Given the description of an element on the screen output the (x, y) to click on. 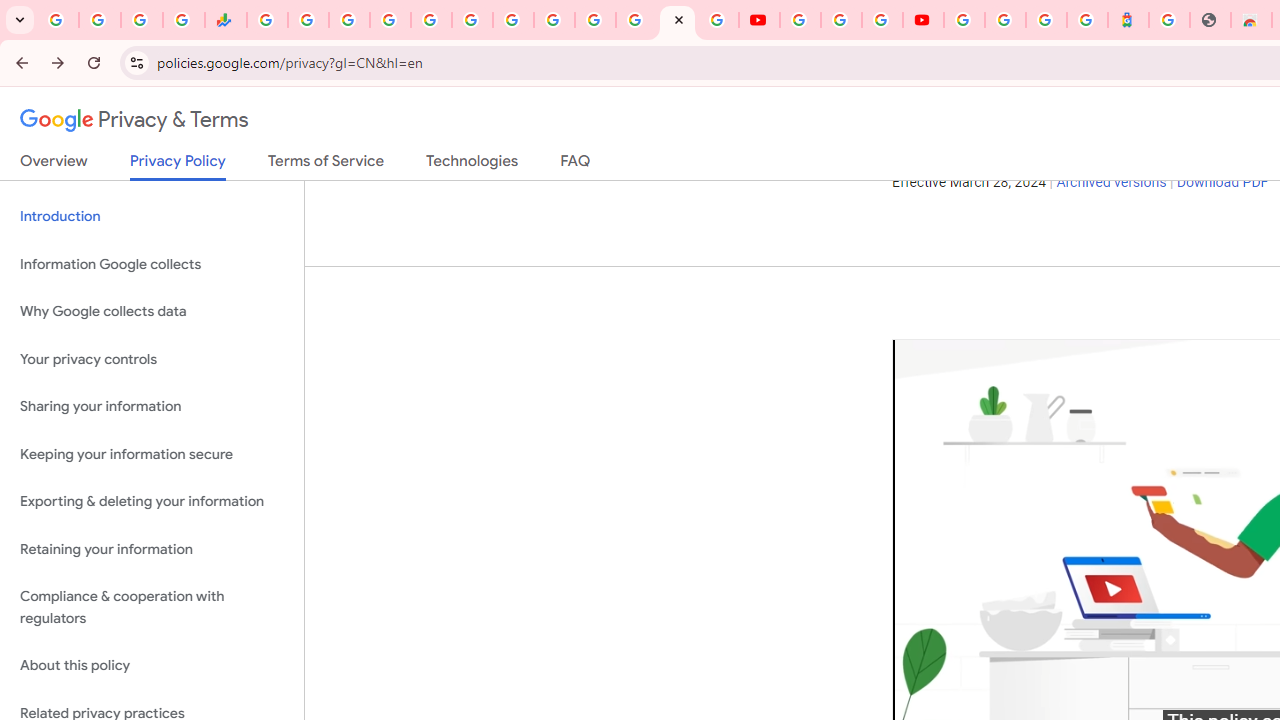
YouTube (553, 20)
Sign in - Google Accounts (1005, 20)
YouTube (799, 20)
Android TV Policies and Guidelines - Transparency Center (512, 20)
Atour Hotel - Google hotels (1128, 20)
Sign in - Google Accounts (964, 20)
